Given the description of an element on the screen output the (x, y) to click on. 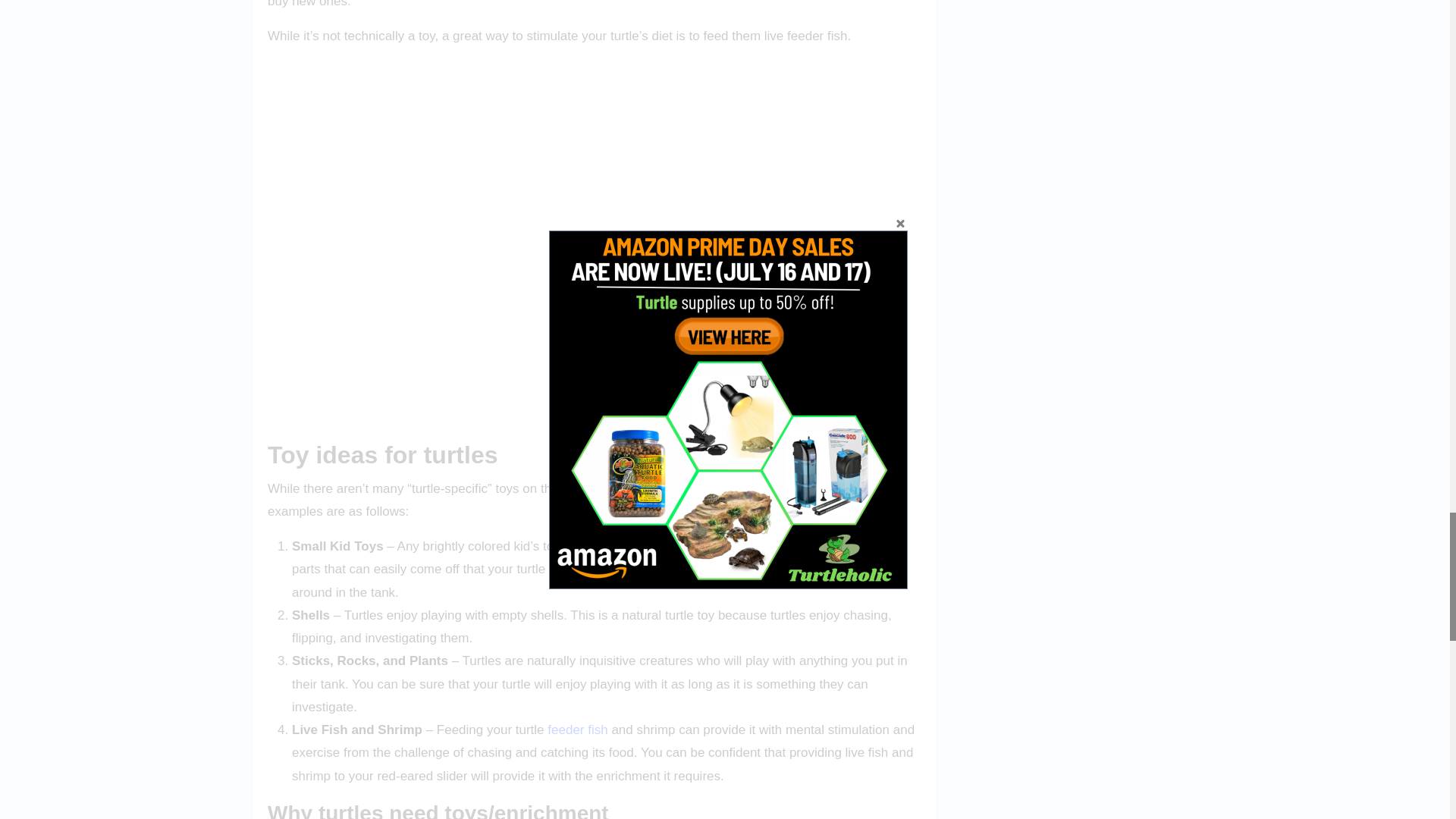
feeder fish (577, 729)
